Given the description of an element on the screen output the (x, y) to click on. 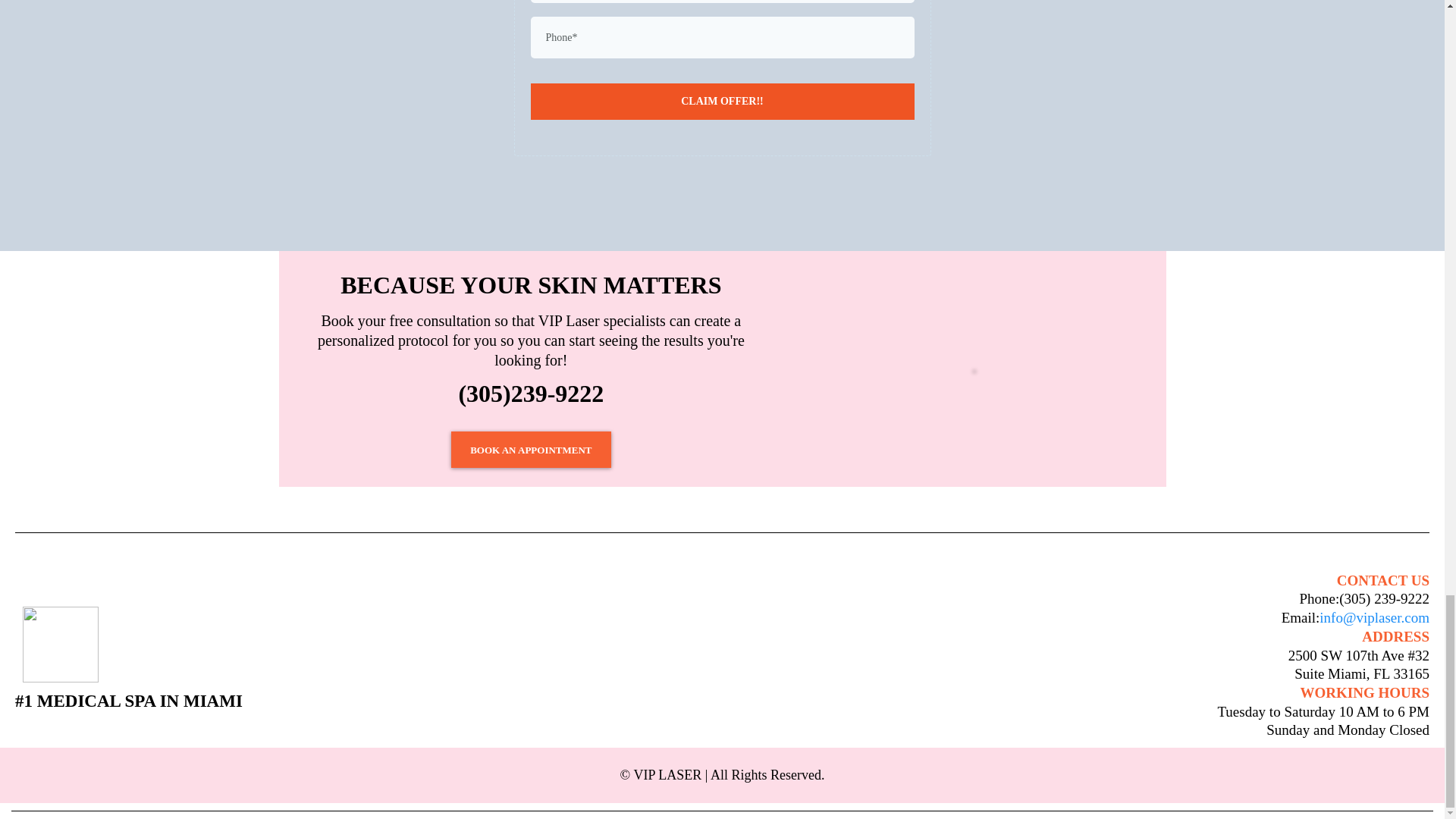
BOOK AN APPOINTMENT (530, 449)
CLAIM OFFER!! (722, 100)
